Given the description of an element on the screen output the (x, y) to click on. 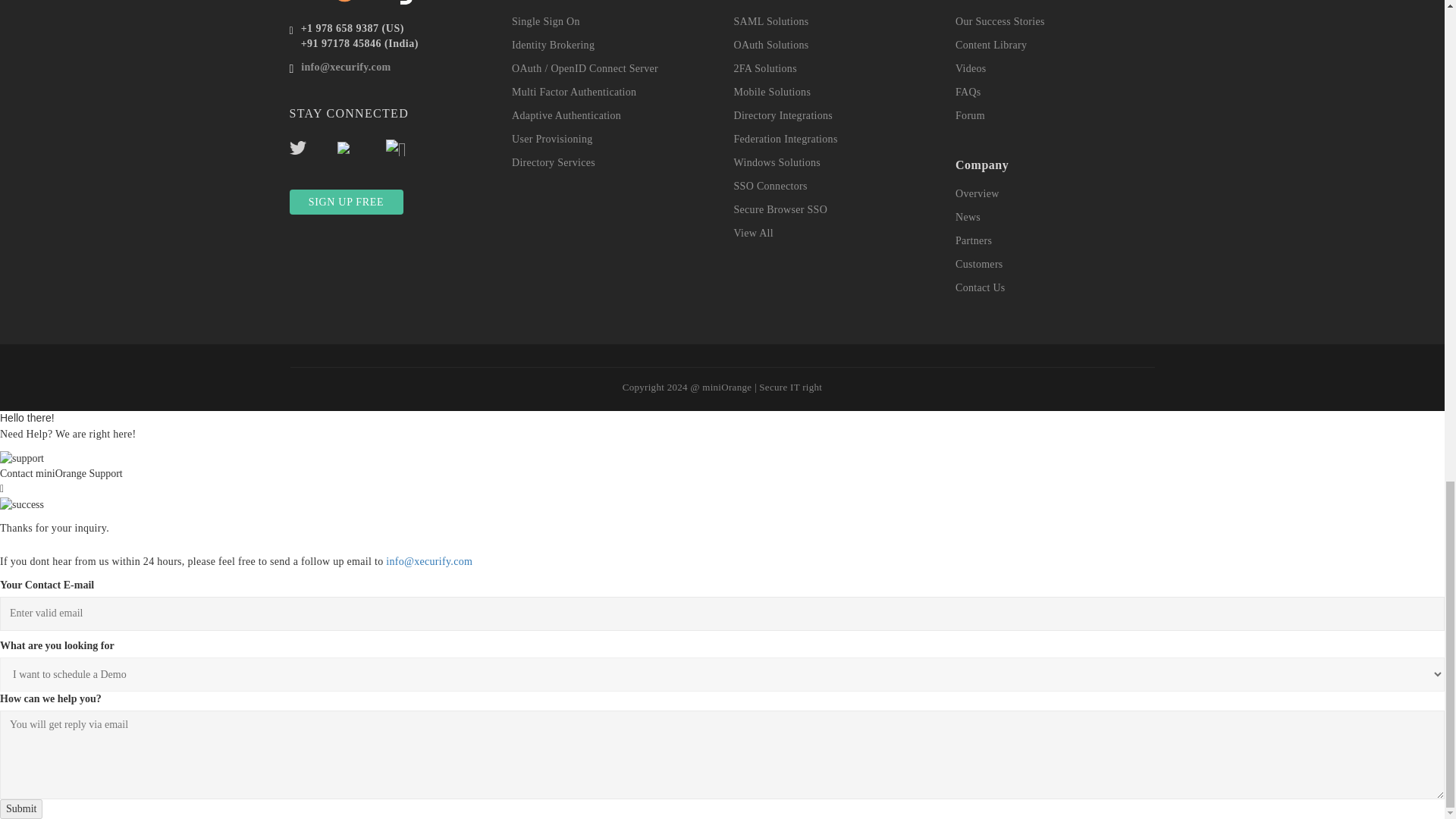
Identity Brokering (553, 44)
2FA Solutions (764, 68)
SAML Solutions (771, 21)
Multi Factor Authentication (574, 91)
Directory Services (553, 162)
Single Sign On (545, 21)
User Provisioning (552, 138)
Twitter (313, 143)
Facebook (361, 143)
Linkedin (407, 143)
